Given the description of an element on the screen output the (x, y) to click on. 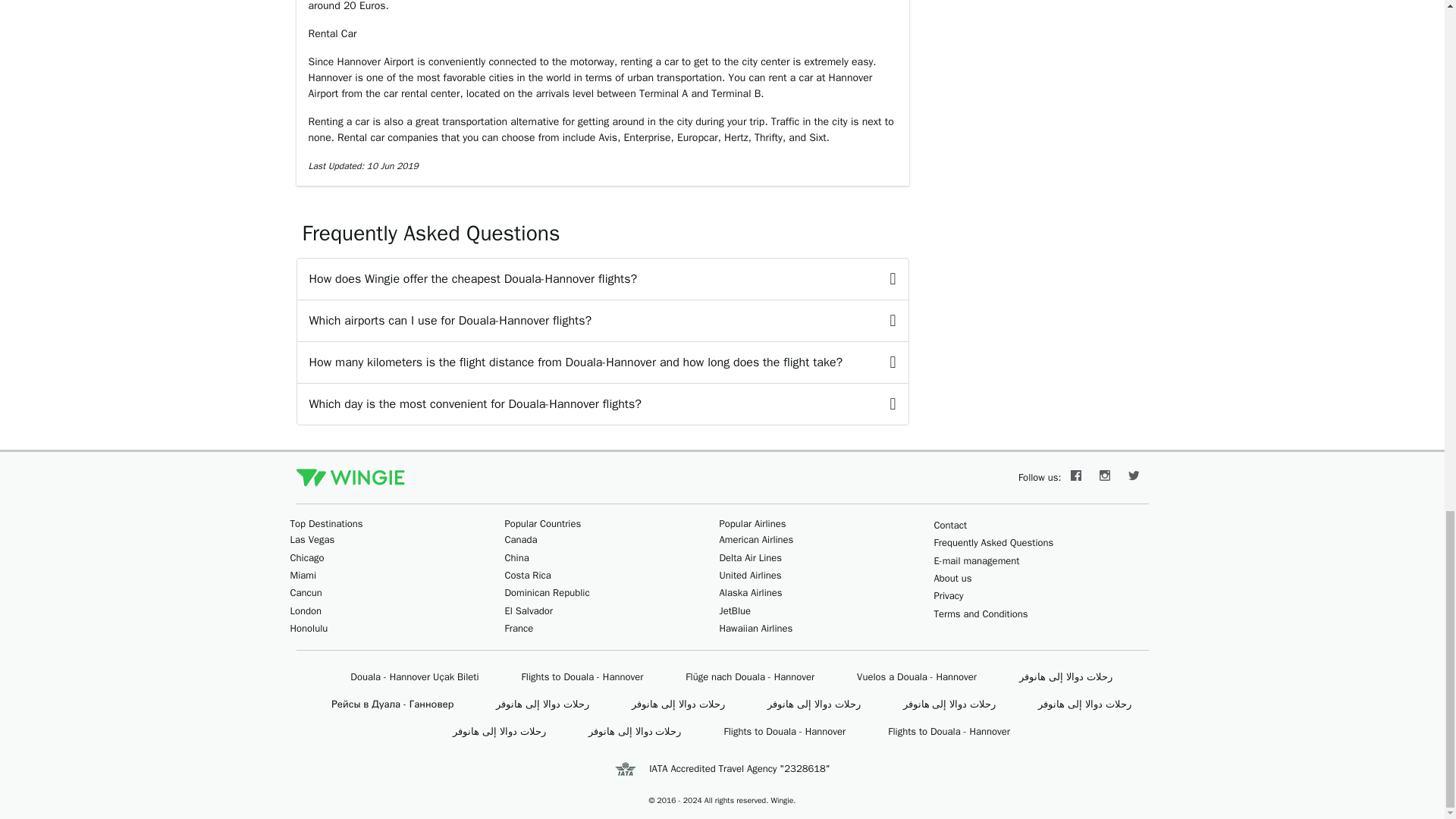
Top Destinations (325, 522)
Instagram (1104, 477)
Twitter (1133, 477)
Miami (302, 574)
Las Vegas (311, 539)
London (305, 610)
Chicago (306, 557)
Cancun (305, 592)
Honolulu (308, 627)
Facebook (1075, 477)
